Given the description of an element on the screen output the (x, y) to click on. 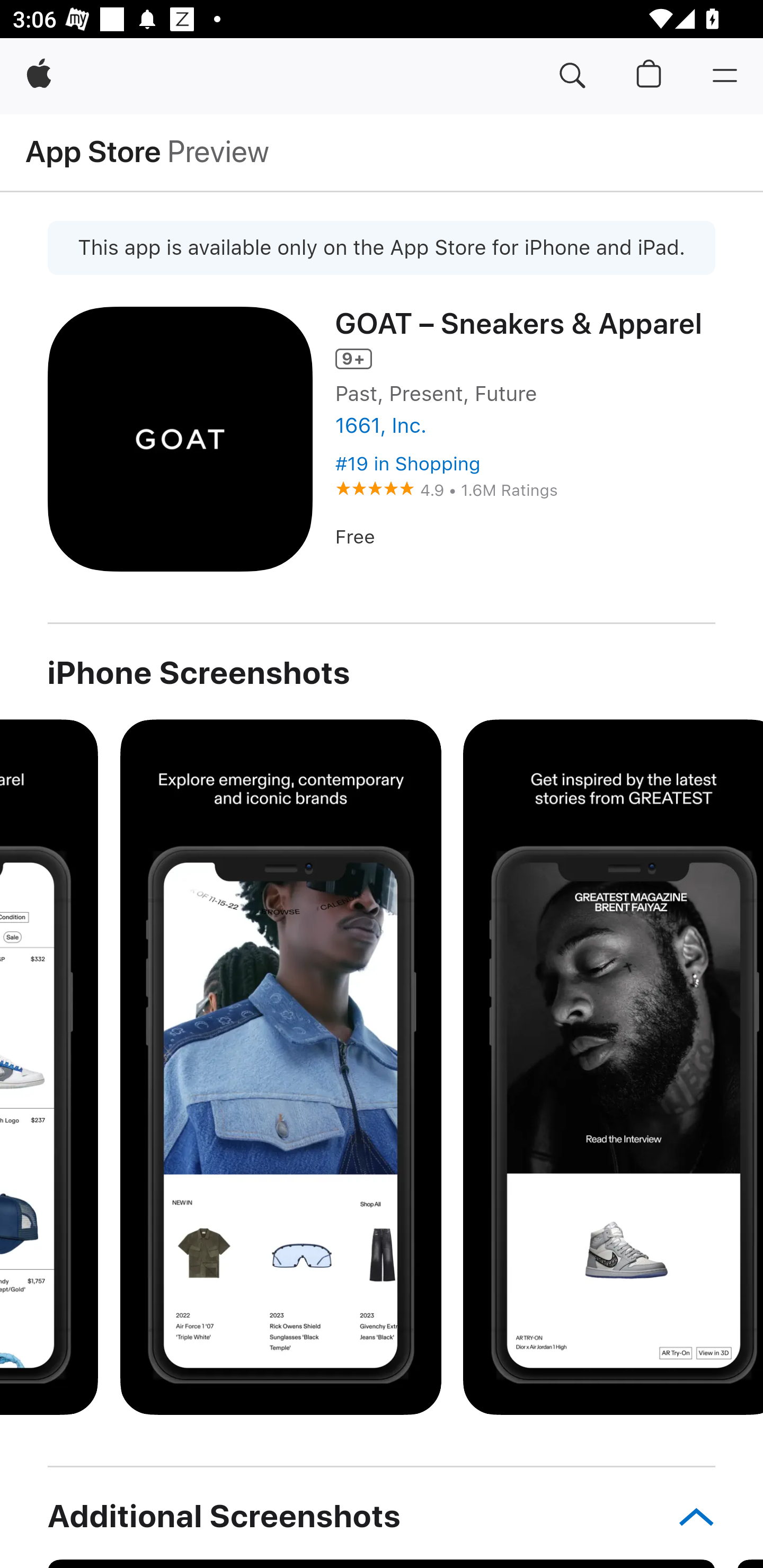
Apple (38, 75)
Search apple.com (572, 75)
Shopping Bag (648, 75)
Menu (724, 75)
App Store (93, 151)
1661, Inc. 1661, Inc. 1661, Inc. (524, 425)
#19 in Shopping (407, 463)
 (686, 1516)
